Given the description of an element on the screen output the (x, y) to click on. 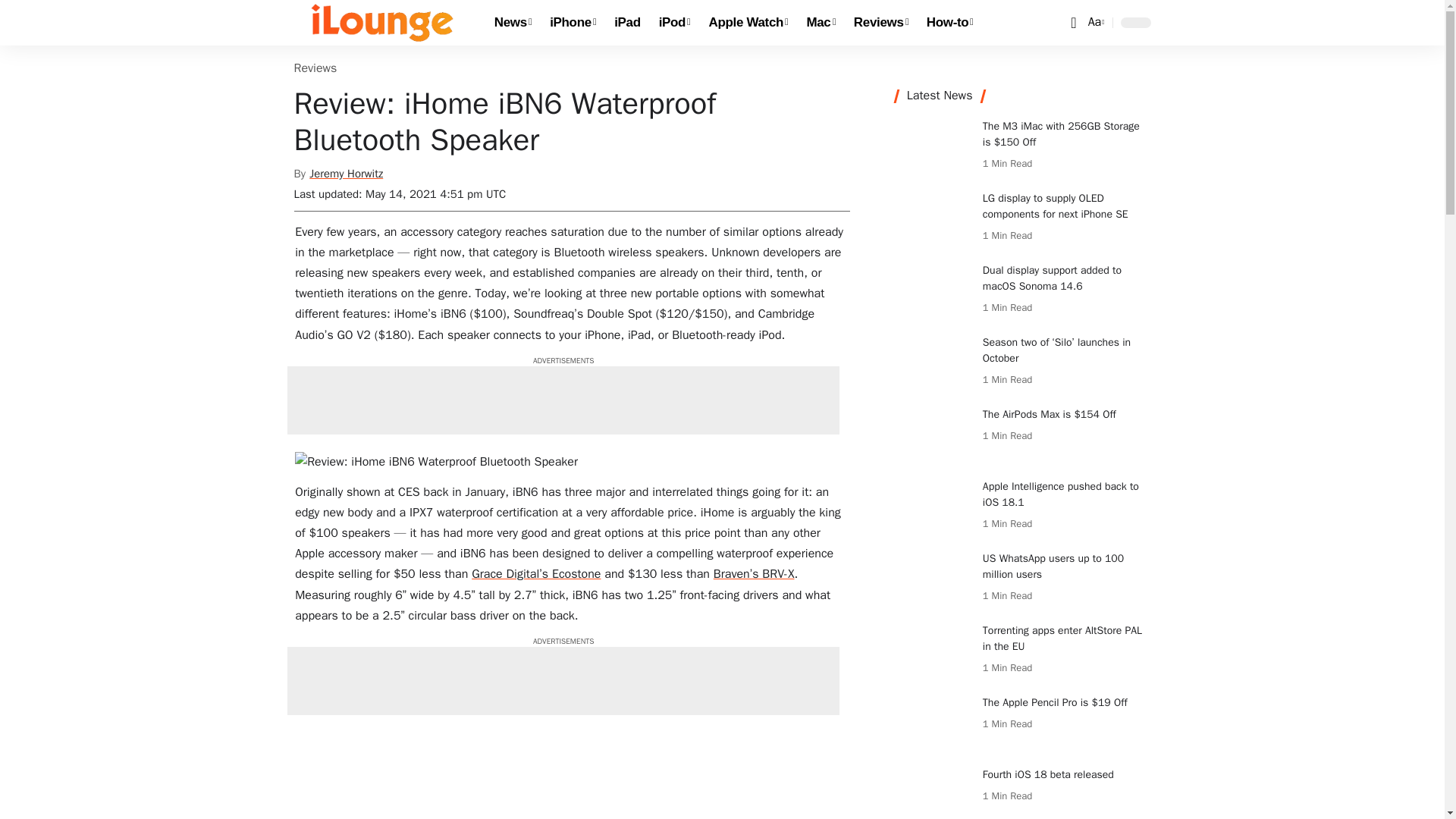
Fourth iOS 18 beta released (933, 792)
iPod (674, 22)
Torrenting apps enter AltStore PAL in the EU (933, 650)
iLounge (382, 22)
Apple Watch (748, 22)
iPad (627, 22)
iPhone (572, 22)
Apple Intelligence pushed back to iOS 18.1 (933, 506)
Reviews (880, 22)
US WhatsApp users up to 100 million users (933, 578)
News (512, 22)
LG display to supply OLED components for next iPhone SE (933, 218)
Dual display support added to macOS Sonoma 14.6 (933, 290)
How-to (949, 22)
Mac (820, 22)
